Given the description of an element on the screen output the (x, y) to click on. 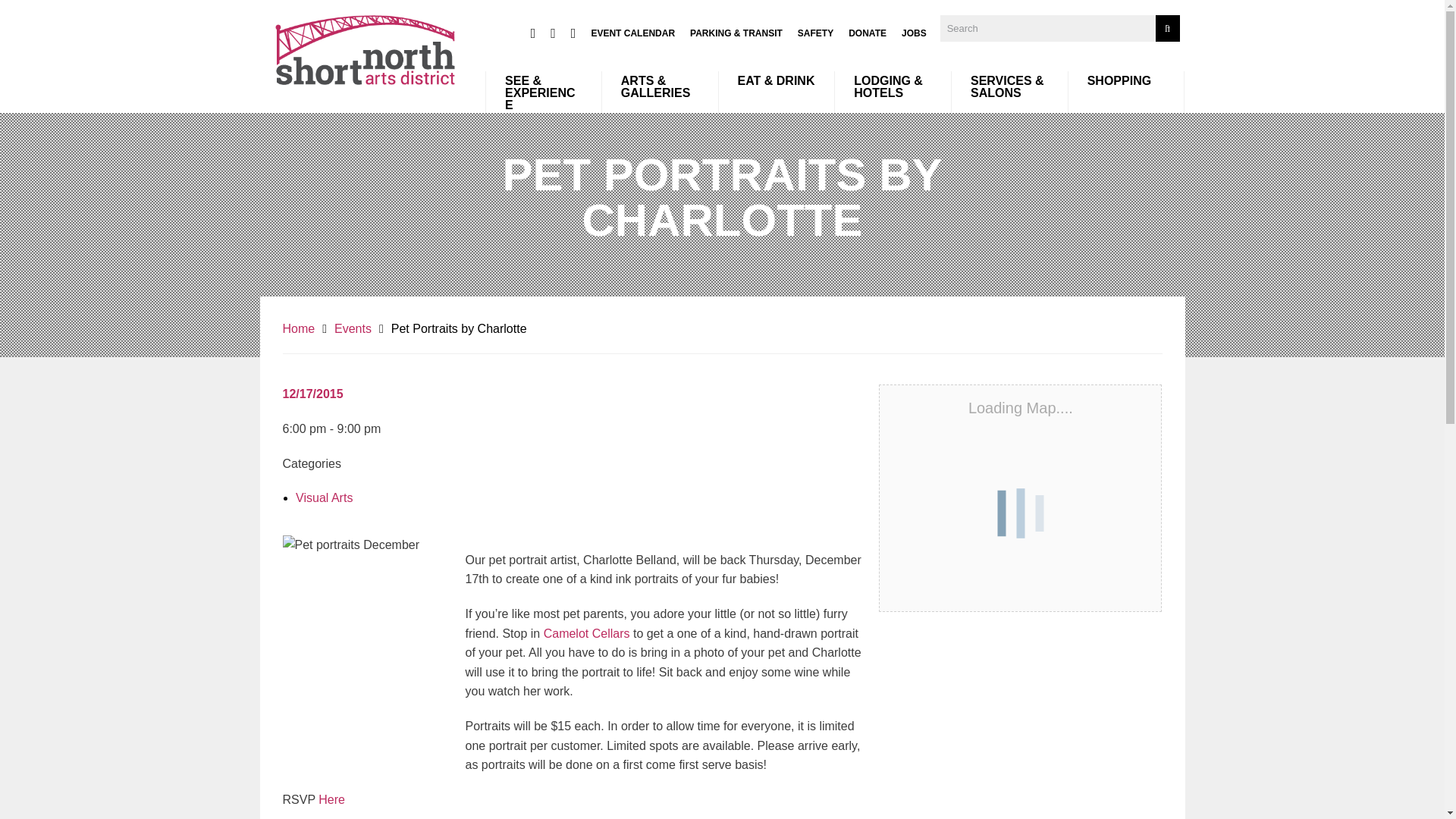
SAFETY (814, 32)
JOBS (913, 32)
DONATE (867, 32)
Search (1167, 28)
EVENT CALENDAR (633, 32)
